Given the description of an element on the screen output the (x, y) to click on. 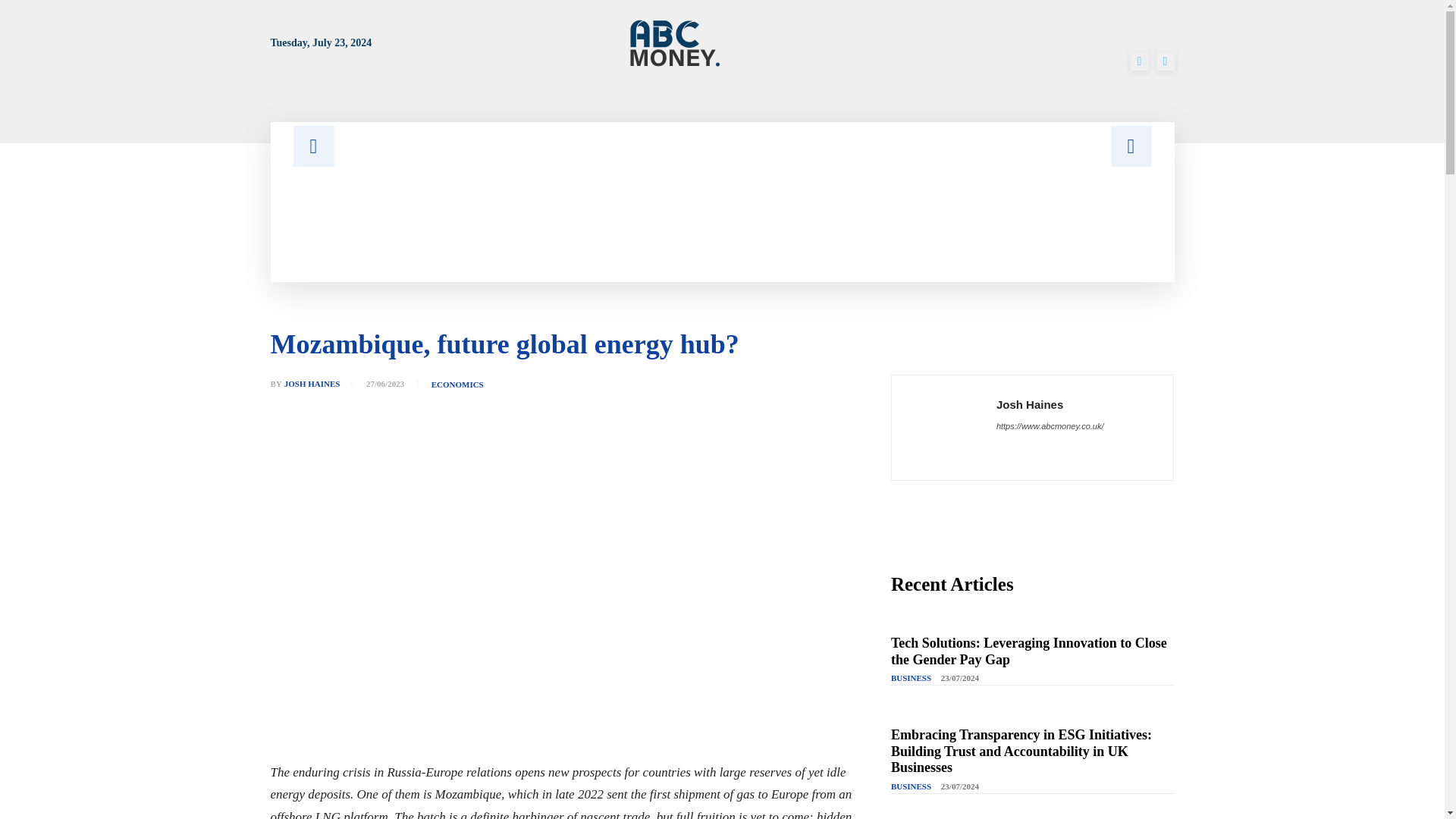
JOSH HAINES (311, 384)
Twitter (1164, 60)
Josh Haines (943, 427)
Facebook (1138, 60)
ECONOMICS (456, 384)
